Given the description of an element on the screen output the (x, y) to click on. 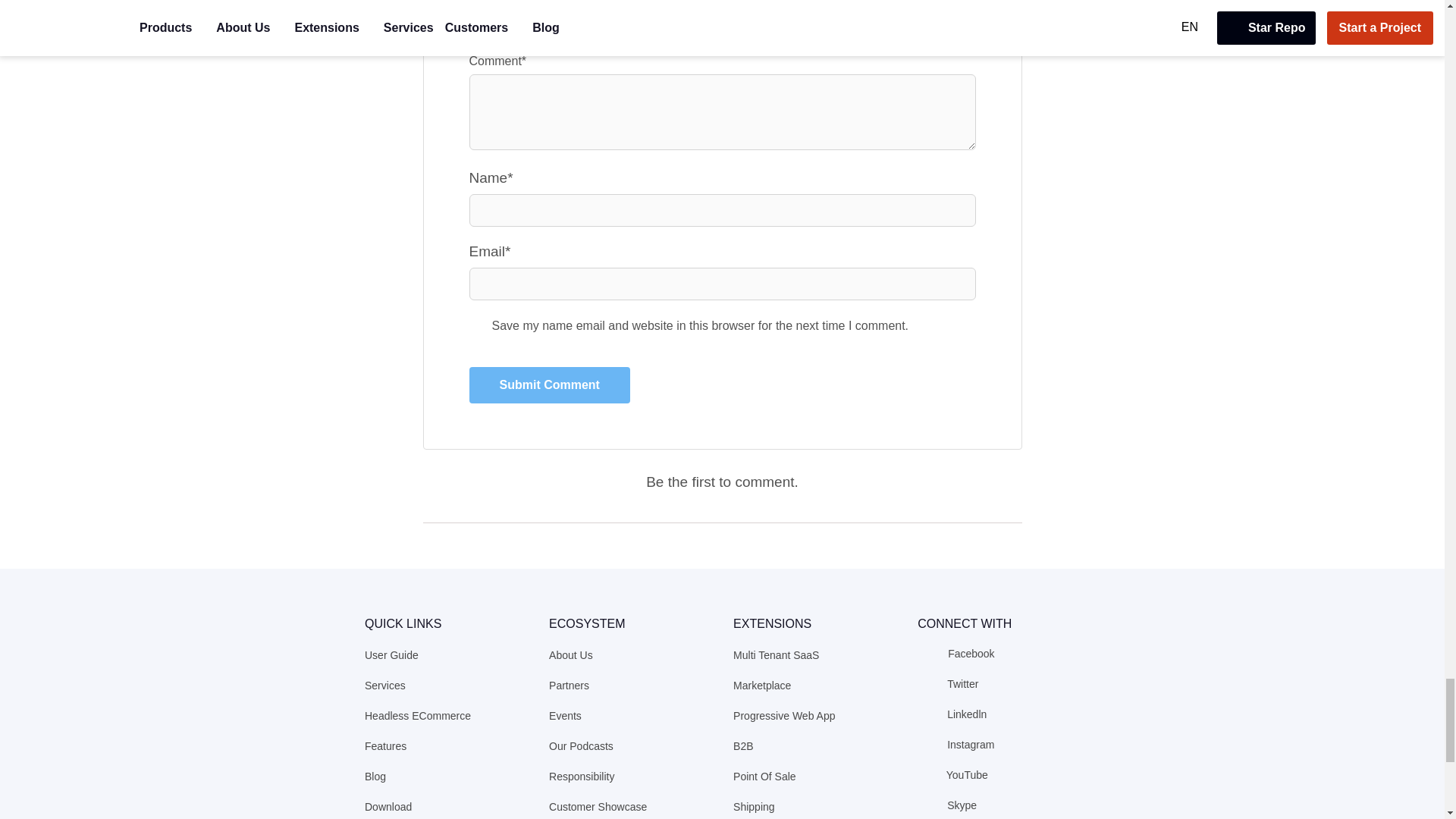
Submit Comment (548, 384)
